Given the description of an element on the screen output the (x, y) to click on. 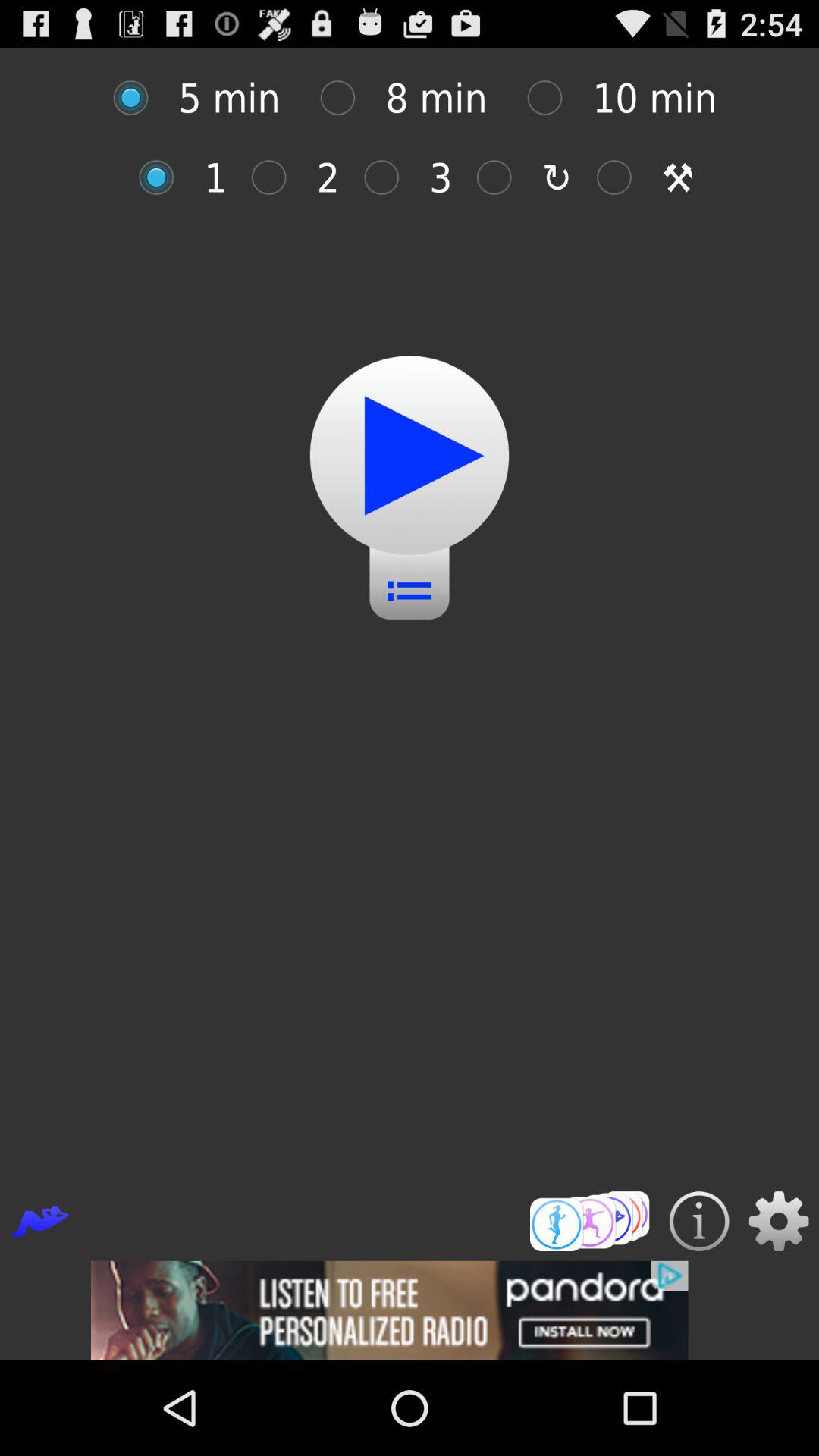
appsan (164, 177)
